Given the description of an element on the screen output the (x, y) to click on. 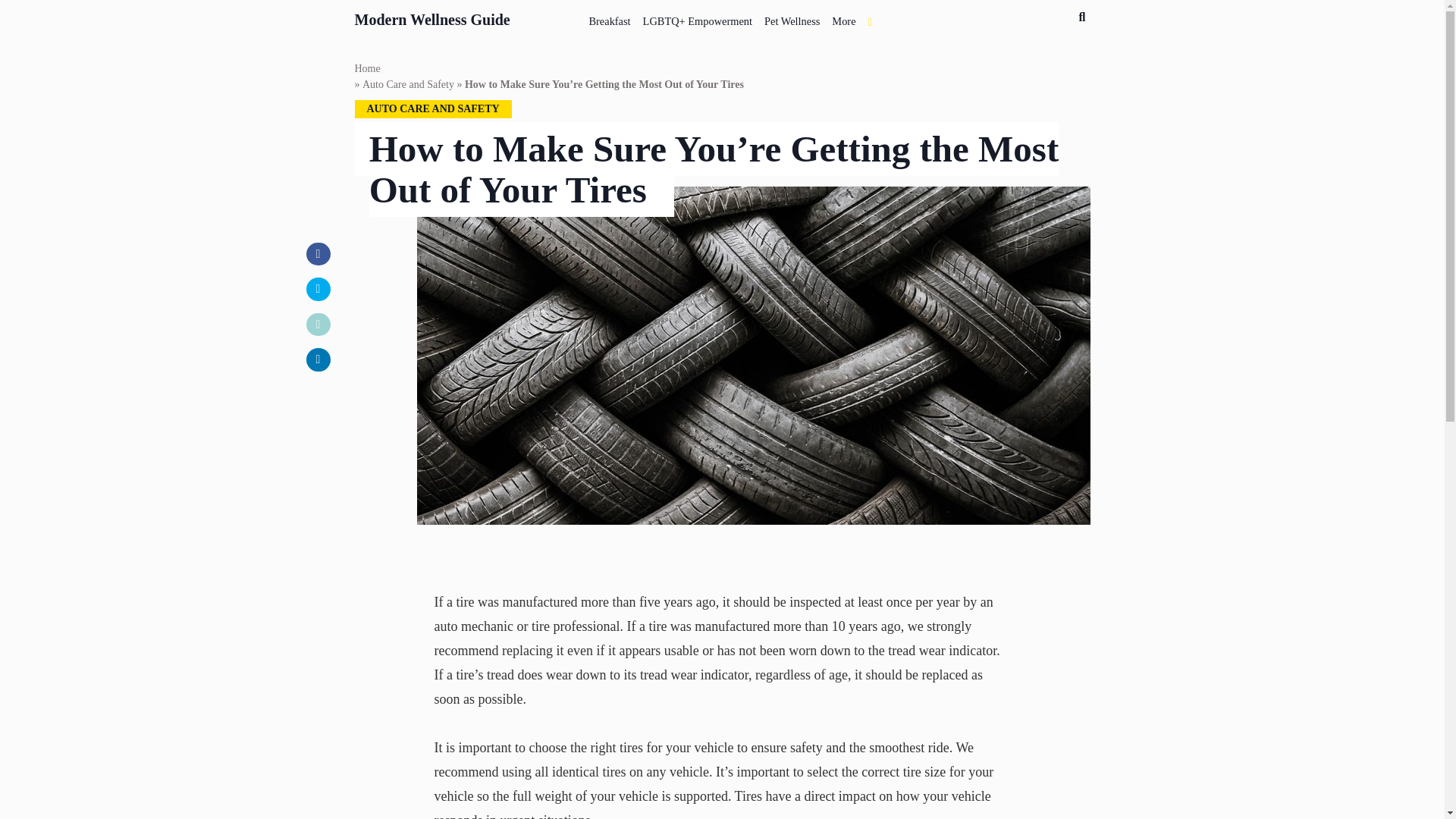
More (843, 18)
Modern Wellness Guide (433, 17)
Pet Wellness (791, 18)
Breakfast (609, 18)
